Given the description of an element on the screen output the (x, y) to click on. 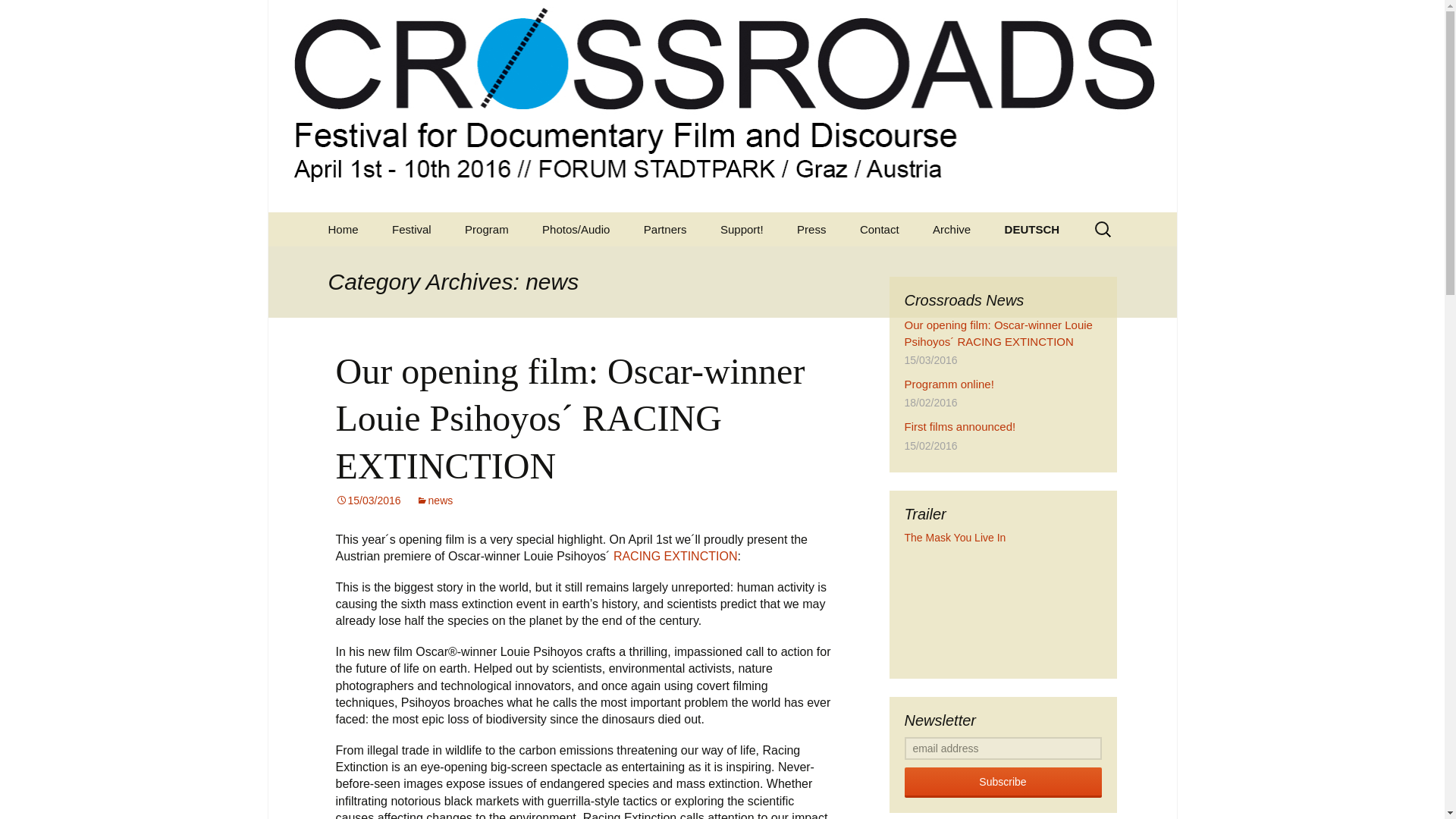
Crowdfunding (780, 263)
Photos 2016 (602, 263)
DEUTSCH (1032, 229)
news (434, 500)
Contact (879, 229)
Press (811, 229)
Programm online! (948, 383)
Subscribe (1002, 782)
